Given the description of an element on the screen output the (x, y) to click on. 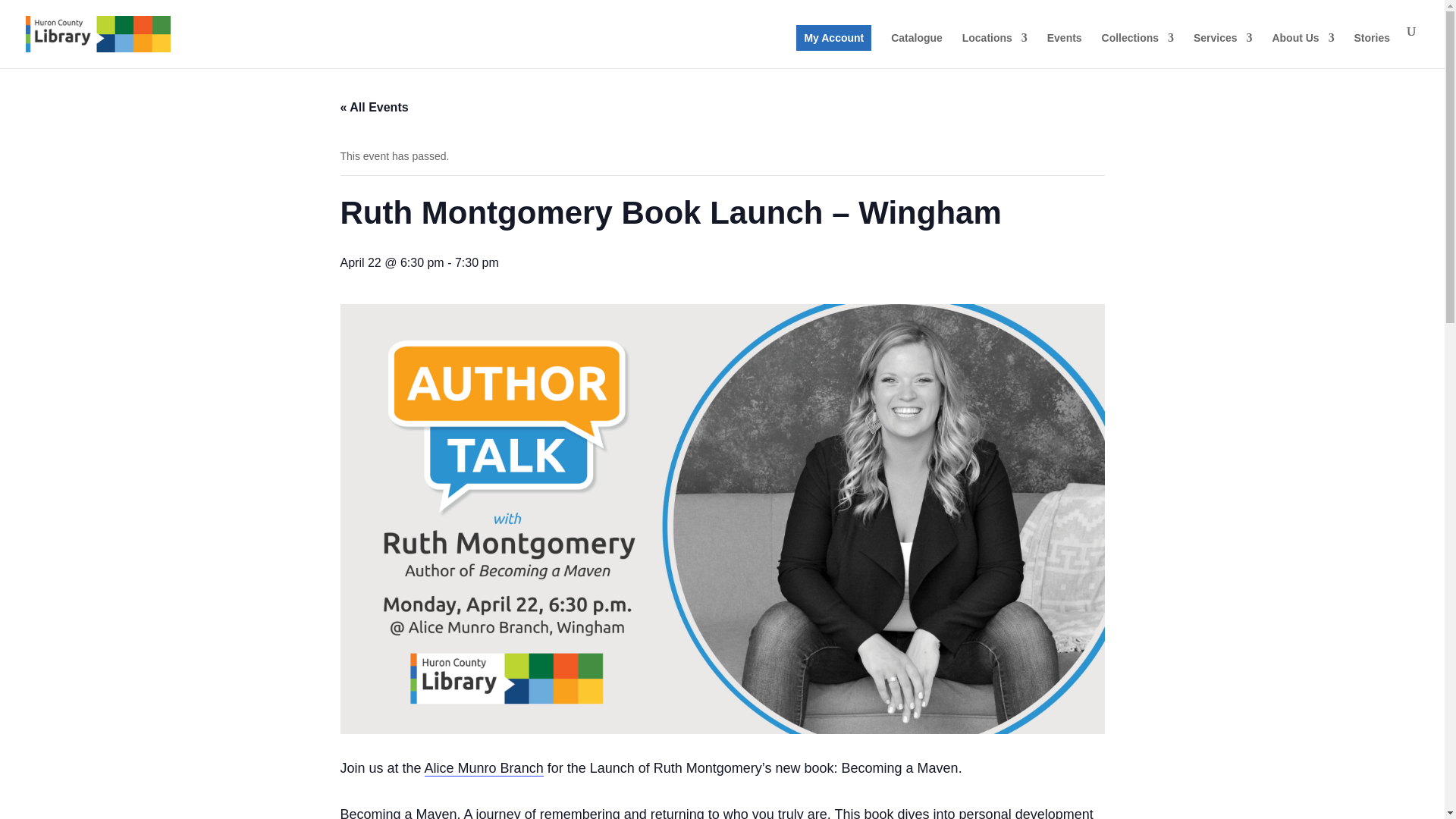
Events (1063, 49)
Services (1222, 49)
Catalogue (916, 49)
About Us (1302, 49)
My Account (833, 37)
Locations (994, 49)
Collections (1137, 49)
